Given the description of an element on the screen output the (x, y) to click on. 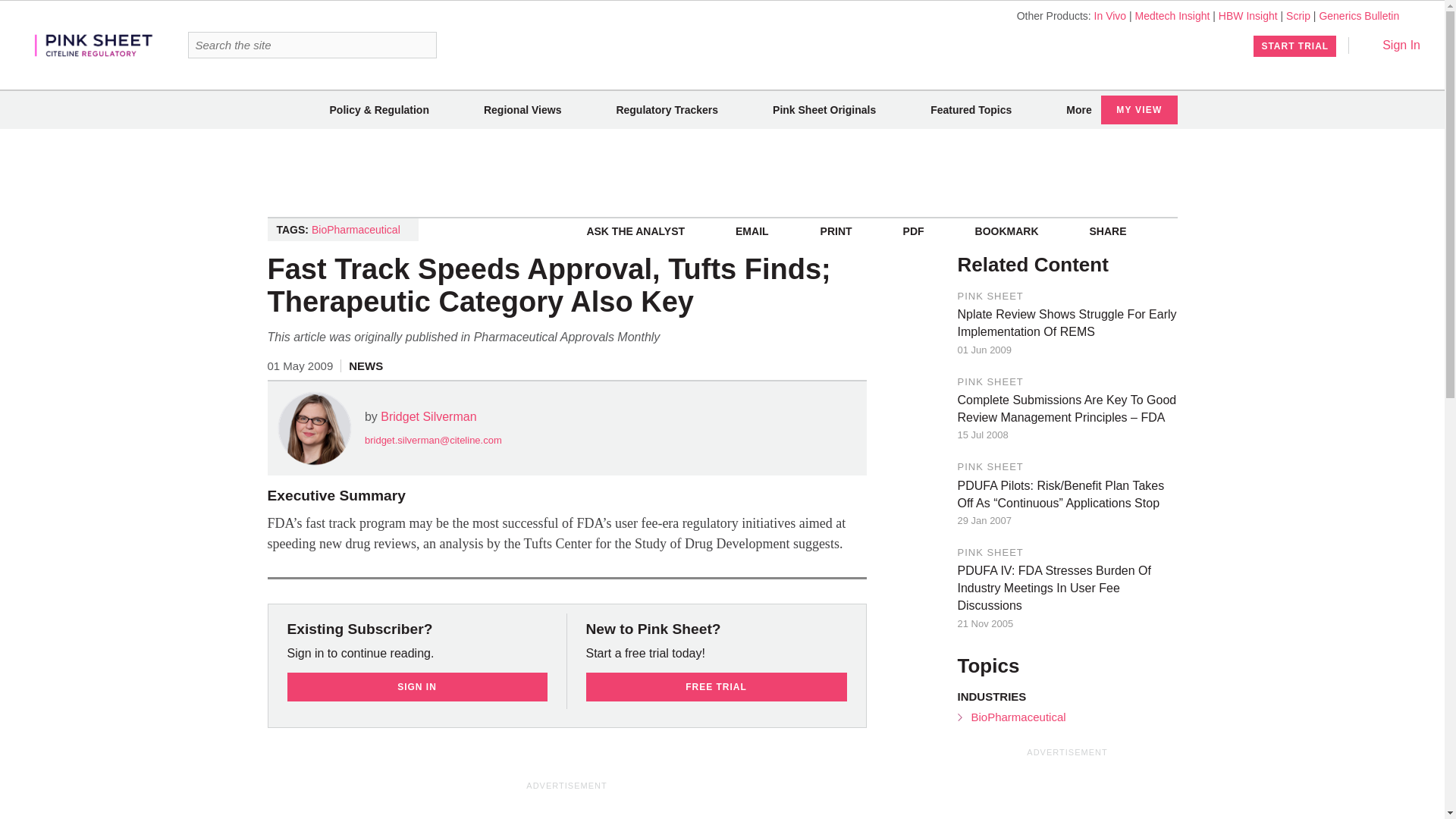
3rd party ad content (1070, 789)
3rd party ad content (567, 806)
Sign In (1391, 44)
HBW Insight (1248, 15)
3rd party ad content (721, 172)
Scrip (1297, 15)
In Vivo (1110, 15)
Generics Bulletin (1359, 15)
START TRIAL (1294, 46)
Medtech Insight (1172, 15)
